Given the description of an element on the screen output the (x, y) to click on. 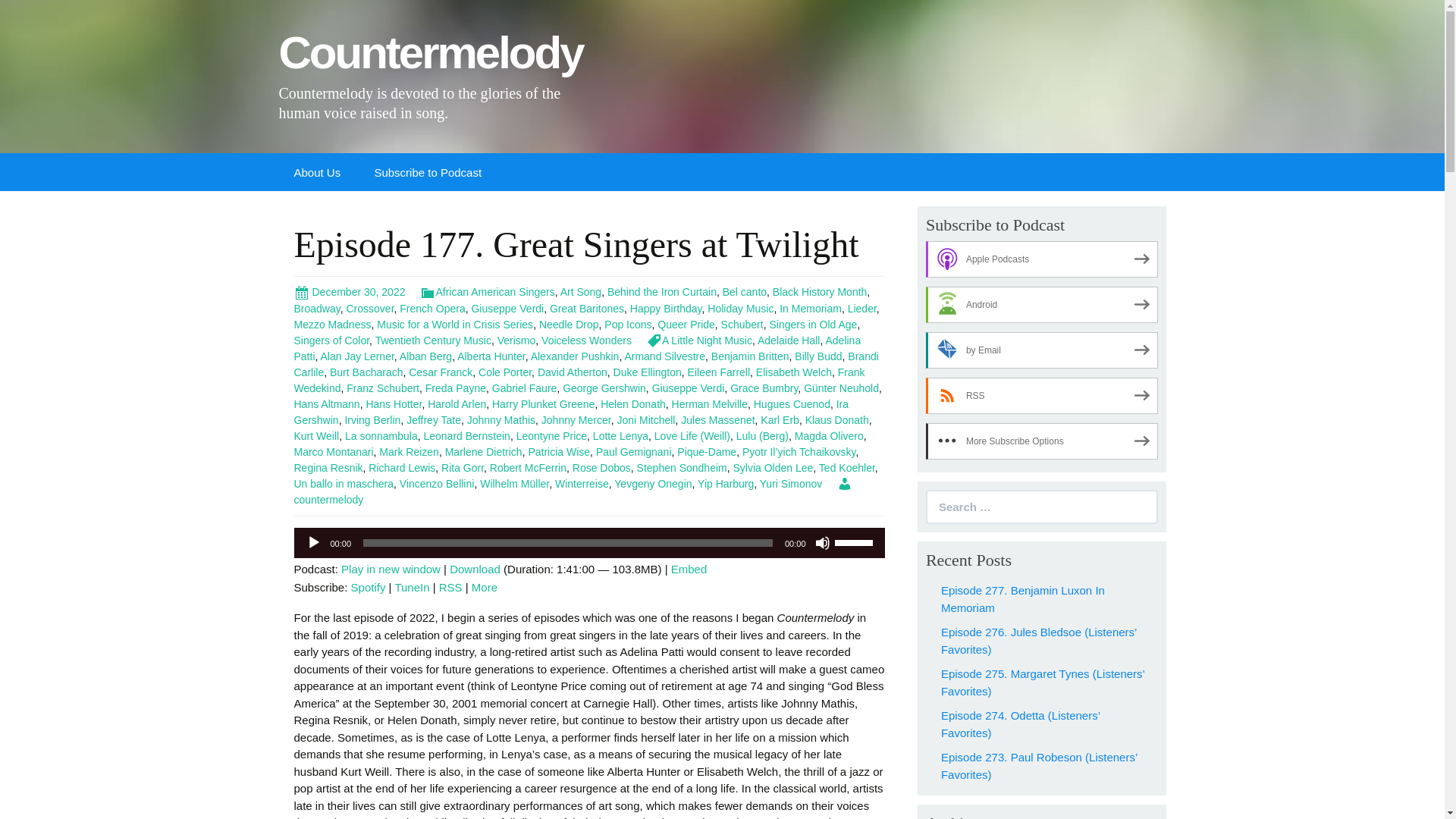
Adelina Patti (577, 348)
Mute (821, 542)
Subscribe on Android (1041, 304)
Needle Drop (568, 324)
Subscribe by Email (1041, 350)
Pop Icons (627, 324)
Benjamin Britten (750, 356)
Happy Birthday (665, 308)
Permalink to Episode 177. Great Singers at Twilight (350, 291)
Adelaide Hall (789, 340)
View all posts by countermelody (573, 491)
Black History Month (819, 291)
Alberta Hunter (491, 356)
